Given the description of an element on the screen output the (x, y) to click on. 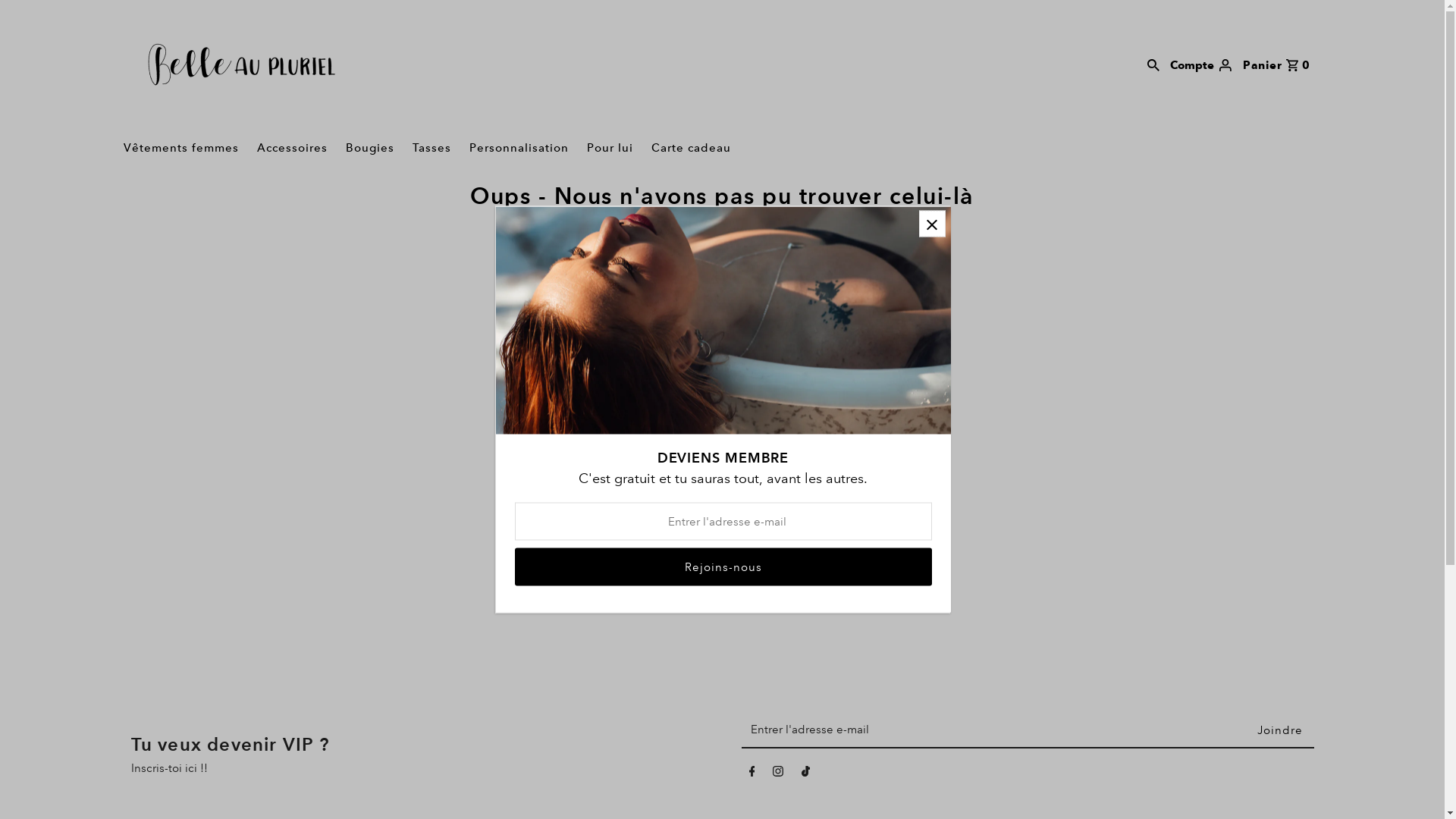
Accueil Element type: text (648, 275)
Joindre Element type: text (1279, 729)
Tasses Element type: text (431, 147)
Personnalisation Element type: text (518, 147)
Rejoins-nous Element type: text (722, 566)
Bougies Element type: text (369, 147)
Pour lui Element type: text (609, 147)
Carte cadeau Element type: text (690, 147)
Accessoires Element type: text (291, 147)
